Given the description of an element on the screen output the (x, y) to click on. 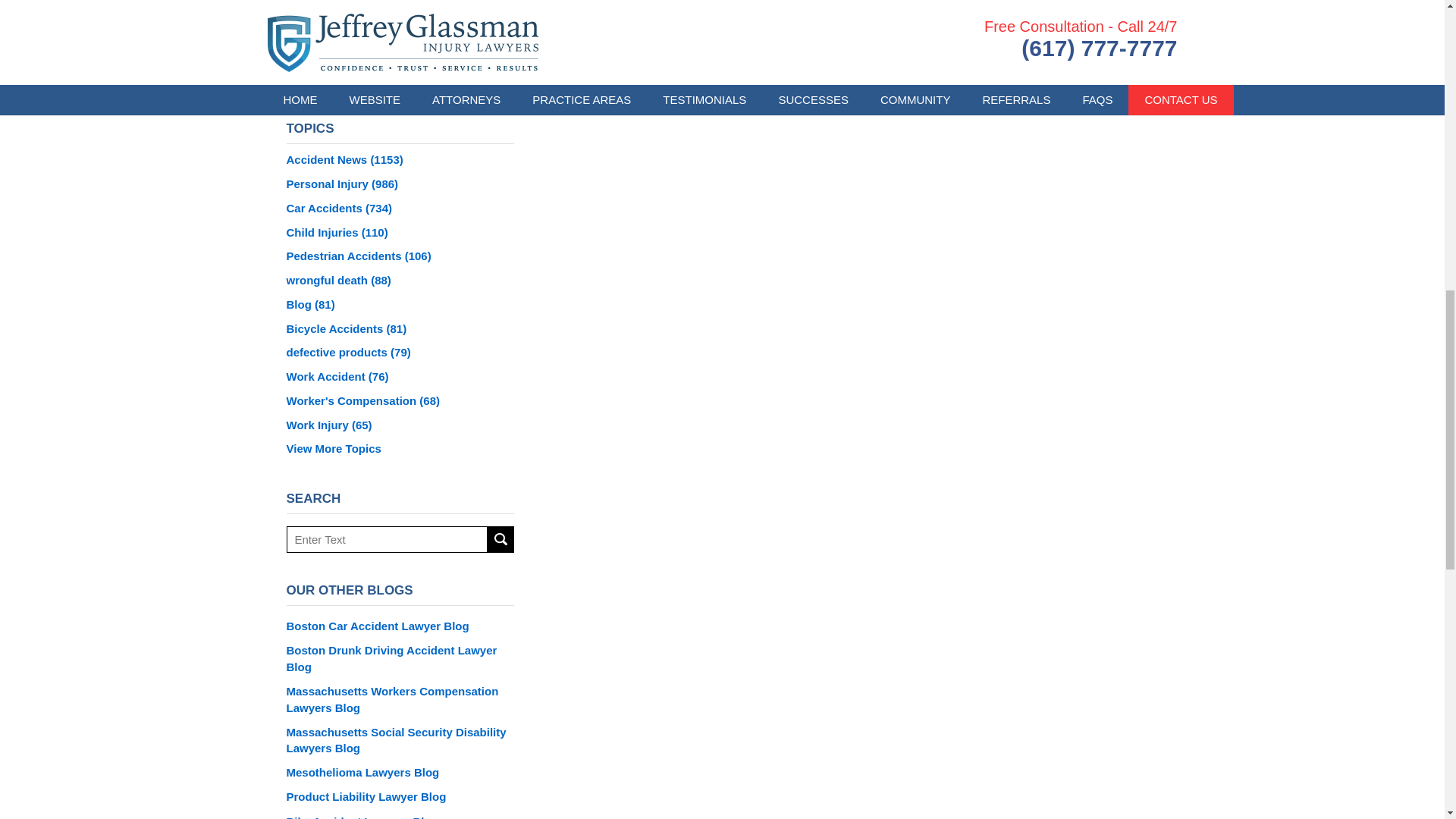
CONTACT US NOW (399, 2)
Twitter (379, 73)
Justia (418, 73)
Feed (458, 73)
Facebook (341, 73)
